Given the description of an element on the screen output the (x, y) to click on. 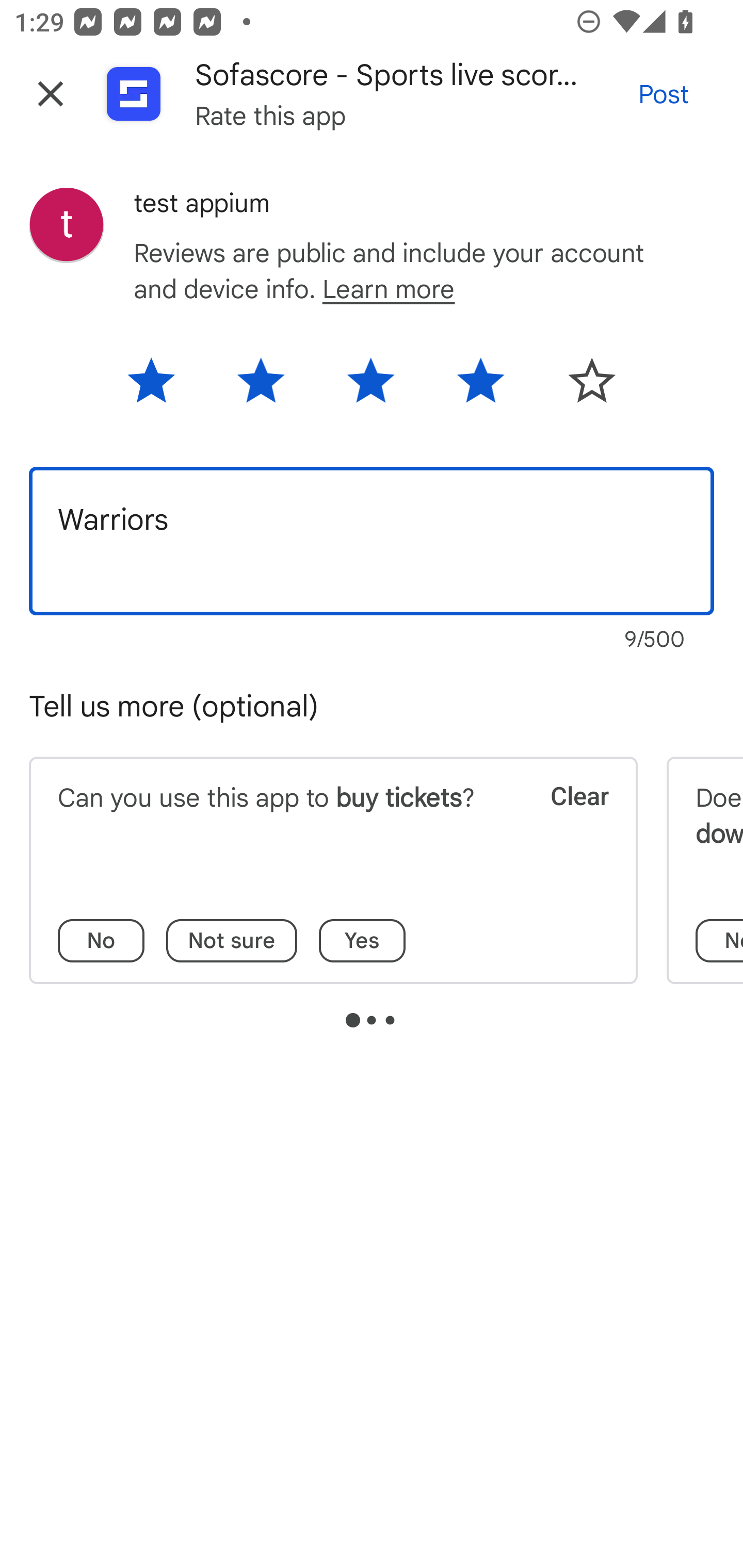
Close (50, 93)
Post (663, 93)
First star selected (163, 387)
Second star selected (260, 387)
Third star selected (370, 387)
Fourth star selected (480, 387)
Fifth star unselected (577, 387)
Warriors
 (371, 540)
Clear (565, 821)
No (100, 940)
Not sure (231, 940)
Yes (361, 940)
